Given the description of an element on the screen output the (x, y) to click on. 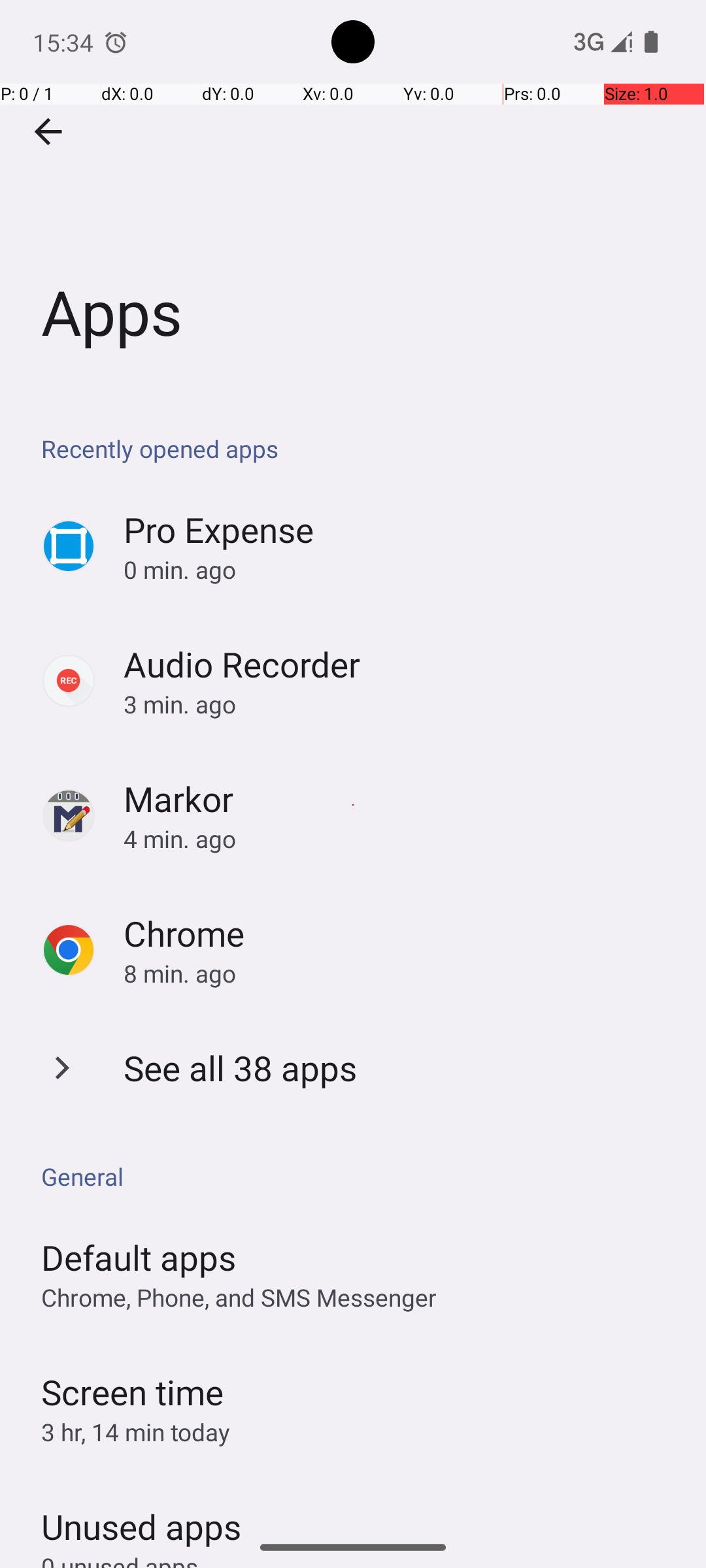
4 min. ago Element type: android.widget.TextView (400, 838)
8 min. ago Element type: android.widget.TextView (400, 972)
See all 38 apps Element type: android.widget.TextView (239, 1067)
3 hr, 14 min today Element type: android.widget.TextView (135, 1431)
